Given the description of an element on the screen output the (x, y) to click on. 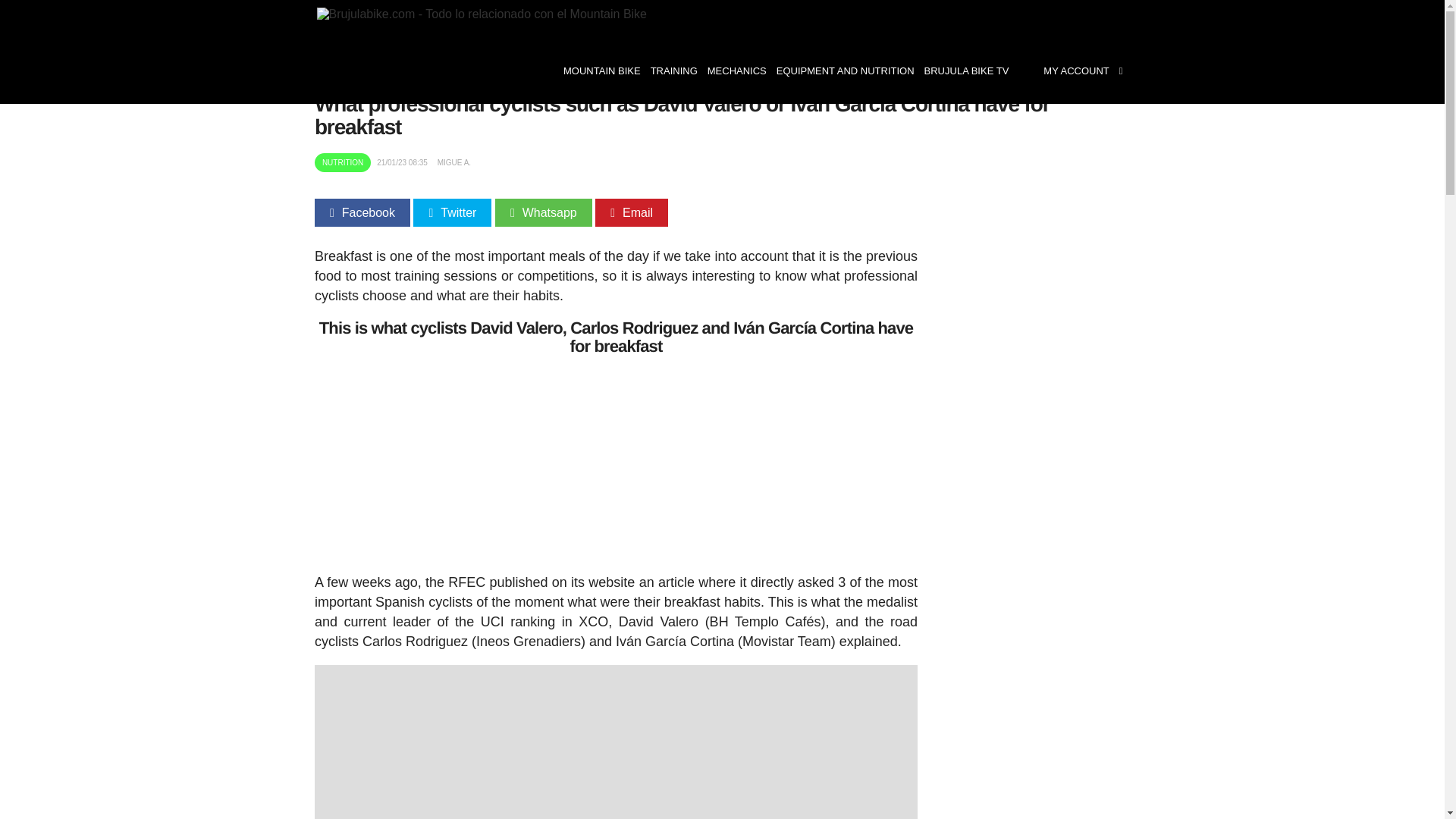
MOUNTAIN BIKE (601, 70)
BRUJULA BIKE TV (965, 70)
EQUIPMENT AND NUTRITION (844, 70)
MECHANICS (736, 70)
Email (631, 212)
Twitter (452, 212)
Facebook (362, 212)
Brujula bike TV (965, 70)
NUTRITION (341, 162)
Equipment and nutrition (844, 70)
